Given the description of an element on the screen output the (x, y) to click on. 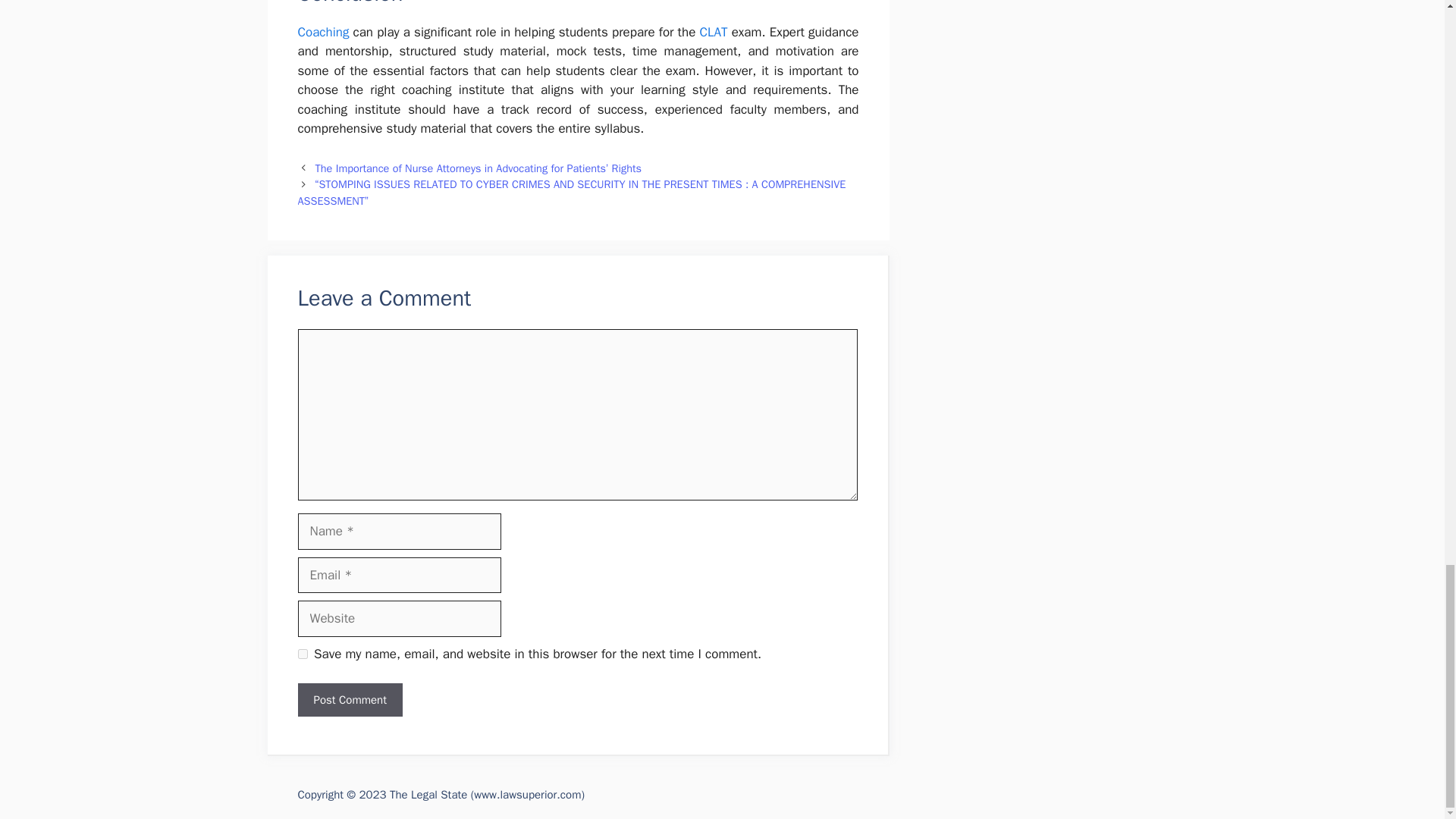
yes (302, 654)
Coaching (323, 32)
Post Comment (349, 700)
